Given the description of an element on the screen output the (x, y) to click on. 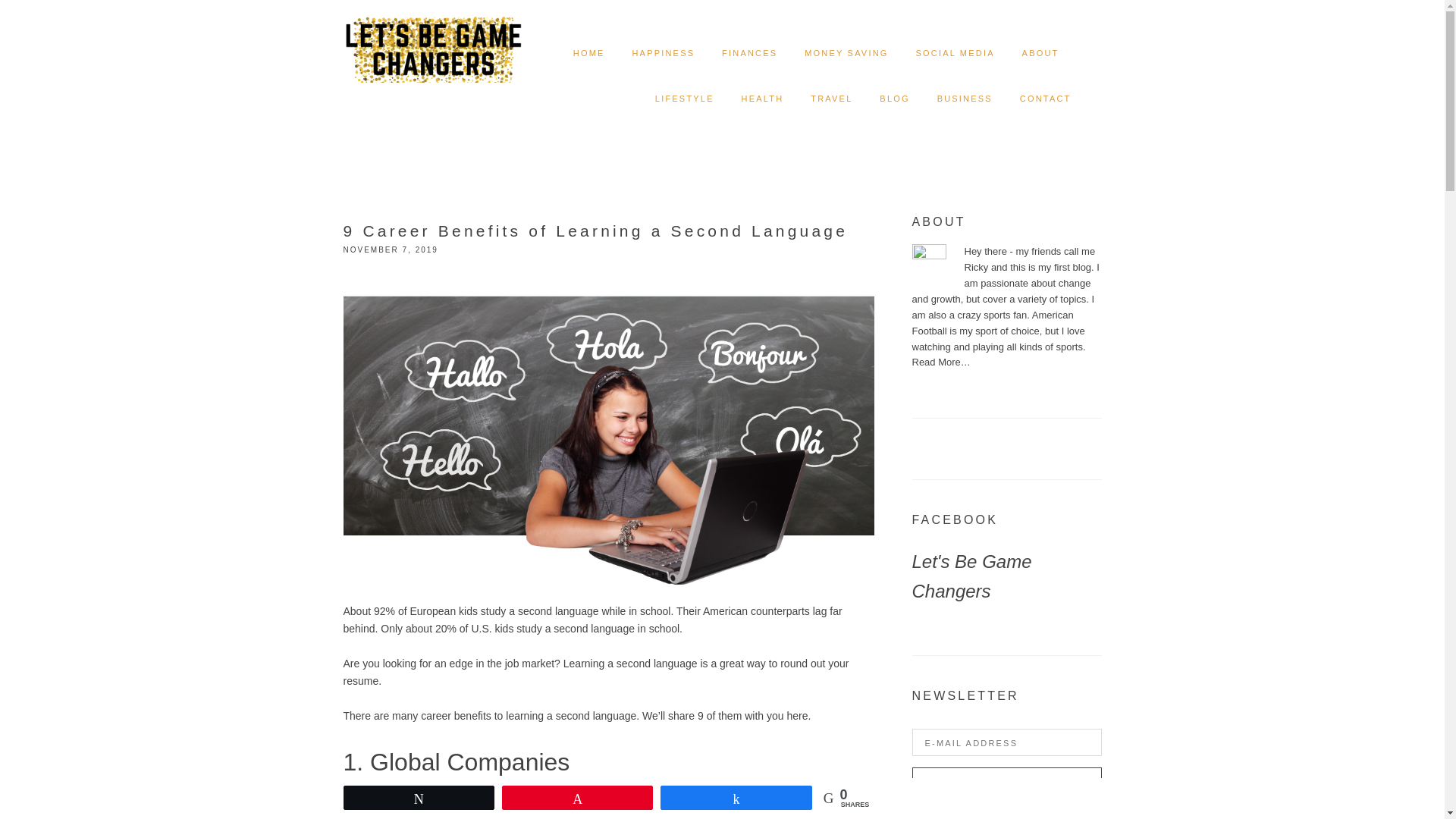
HEALTH (762, 98)
CONTACT (1045, 98)
LIFESTYLE (684, 98)
LET'S BE GAME CHANGERS (432, 37)
MONEY SAVING (846, 53)
HAPPINESS (662, 53)
Go (1005, 783)
SOCIAL MEDIA (954, 53)
FINANCES (749, 53)
BUSINESS (964, 98)
TRAVEL (830, 98)
